Given the description of an element on the screen output the (x, y) to click on. 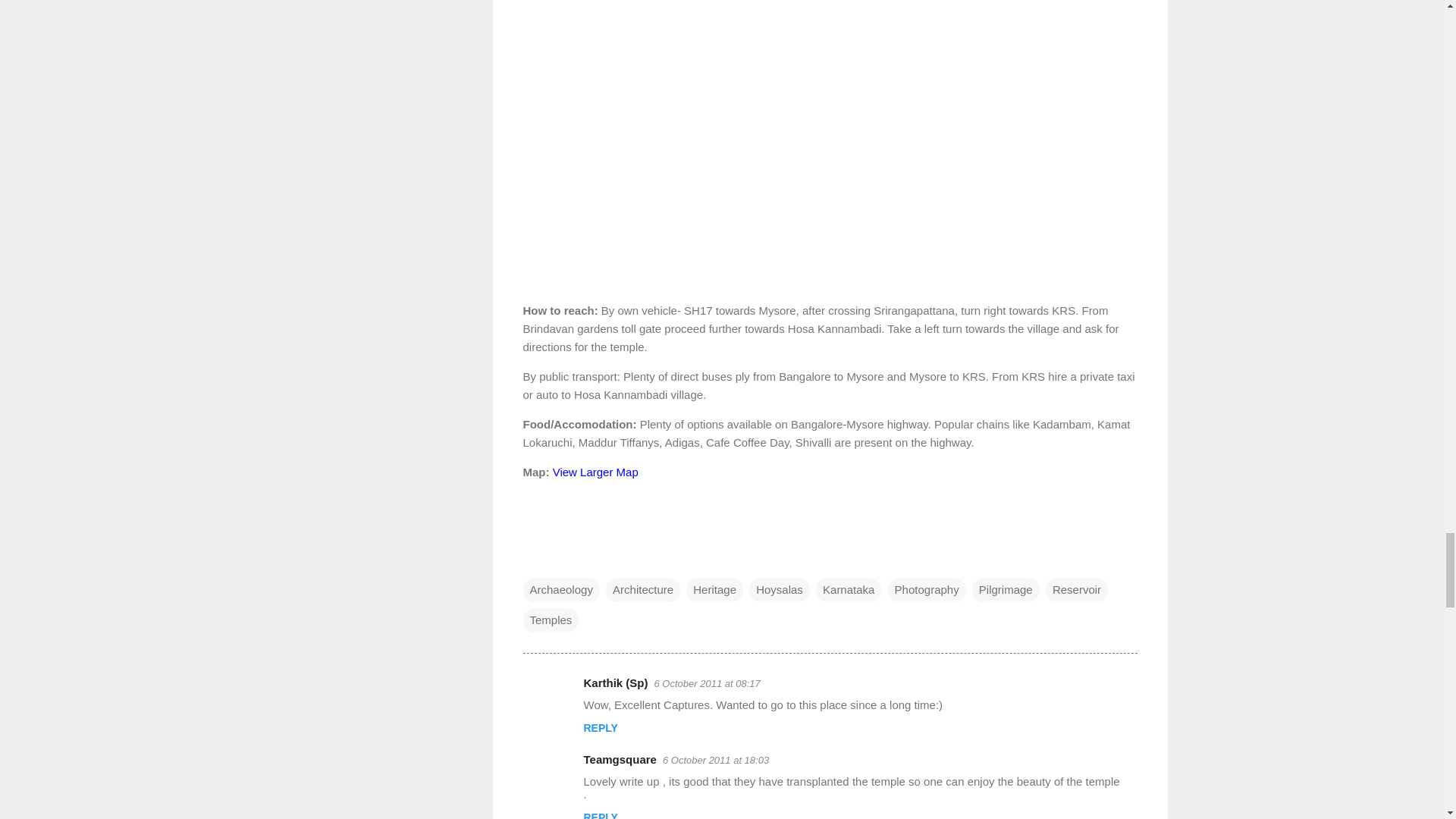
Architecture (642, 589)
Archaeology (560, 589)
Pilgrimage (1005, 589)
Temples (550, 620)
REPLY (600, 727)
Hoysalas (779, 589)
Reservoir (1076, 589)
Email Post (531, 558)
Heritage (713, 589)
6 October 2011 at 08:17 (706, 683)
